Given the description of an element on the screen output the (x, y) to click on. 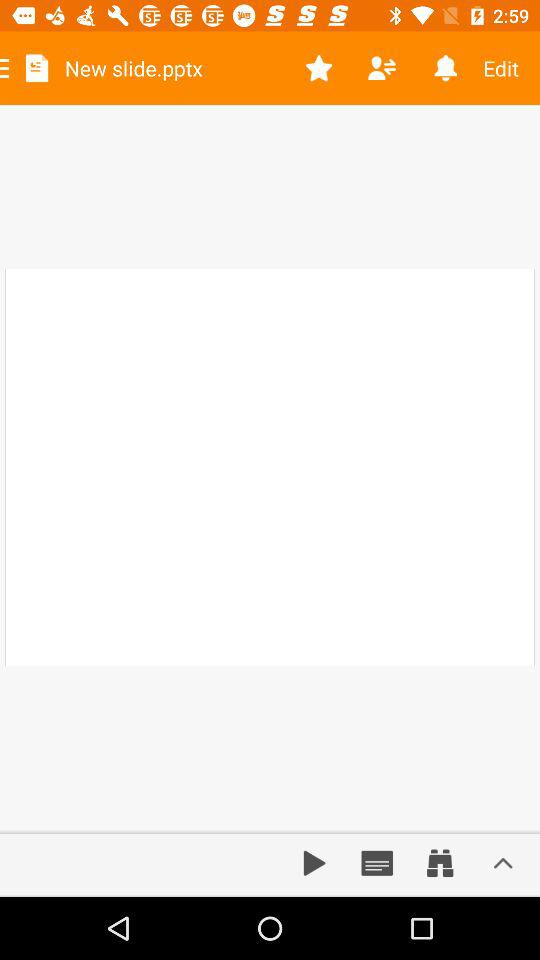
check calendar (377, 863)
